Given the description of an element on the screen output the (x, y) to click on. 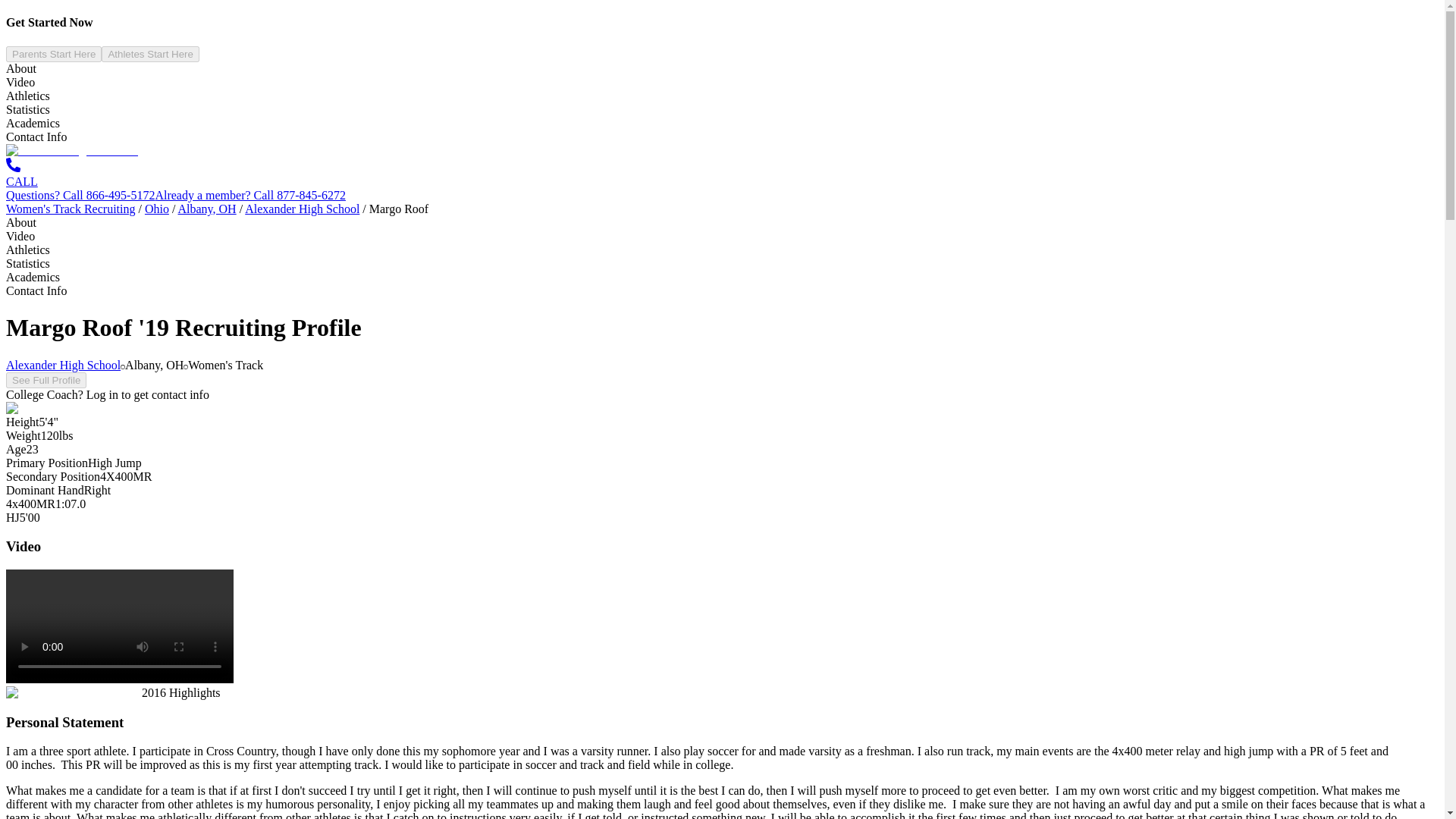
See Full Profile (45, 380)
Women's Track Recruiting (70, 208)
Ohio (156, 208)
Albany, OH (206, 208)
Parents Start Here (53, 53)
Alexander High School (62, 364)
See Full Profile (45, 379)
Questions? Call 866-495-5172 (79, 195)
Alexander High School (301, 208)
Already a member? Call 877-845-6272 (249, 195)
